Given the description of an element on the screen output the (x, y) to click on. 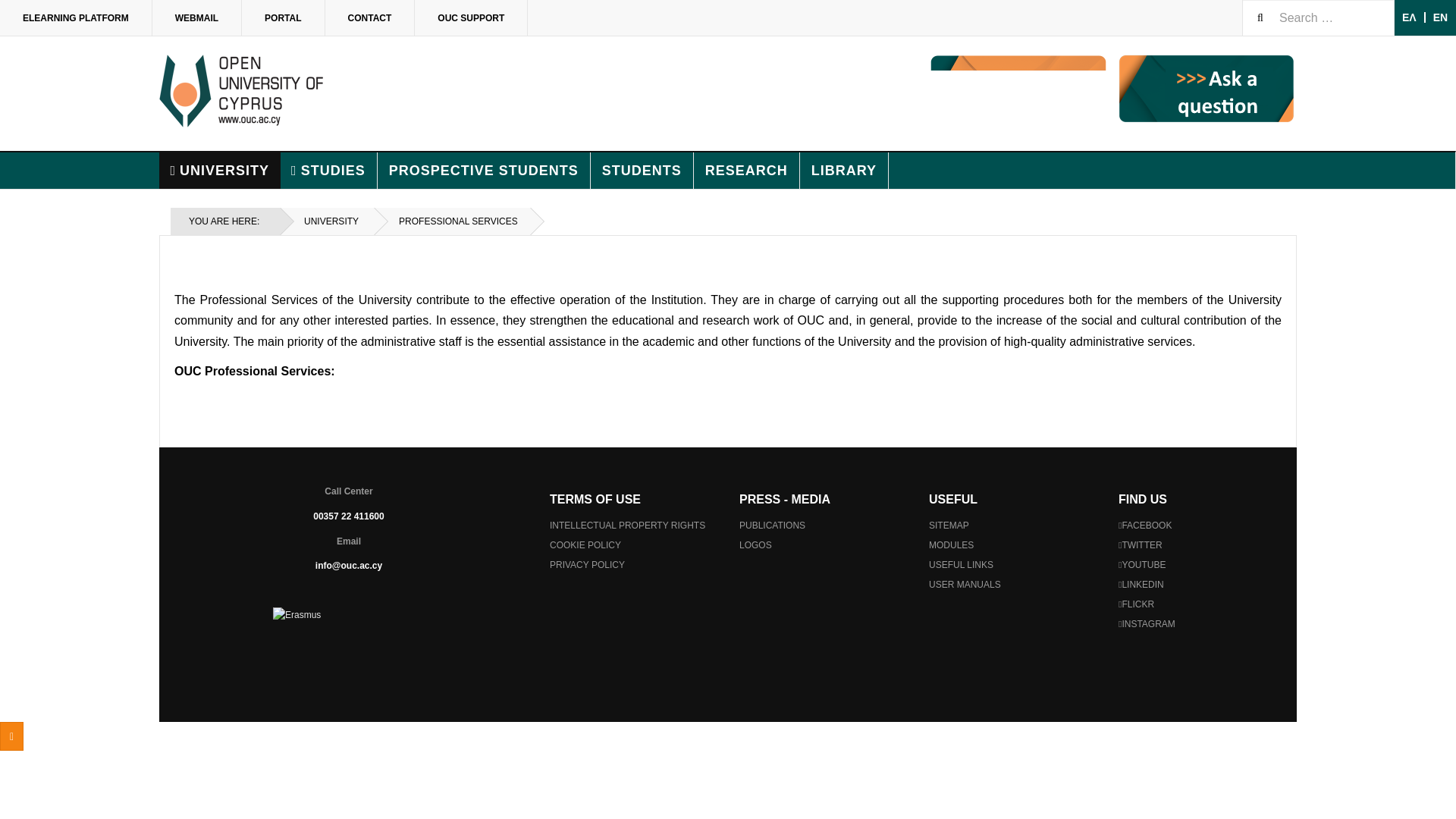
OUC SUPPORT (470, 18)
ELEARNING PLATFORM (76, 18)
PORTAL (282, 18)
WEBMAIL (196, 18)
CONTACT (369, 18)
